Given the description of an element on the screen output the (x, y) to click on. 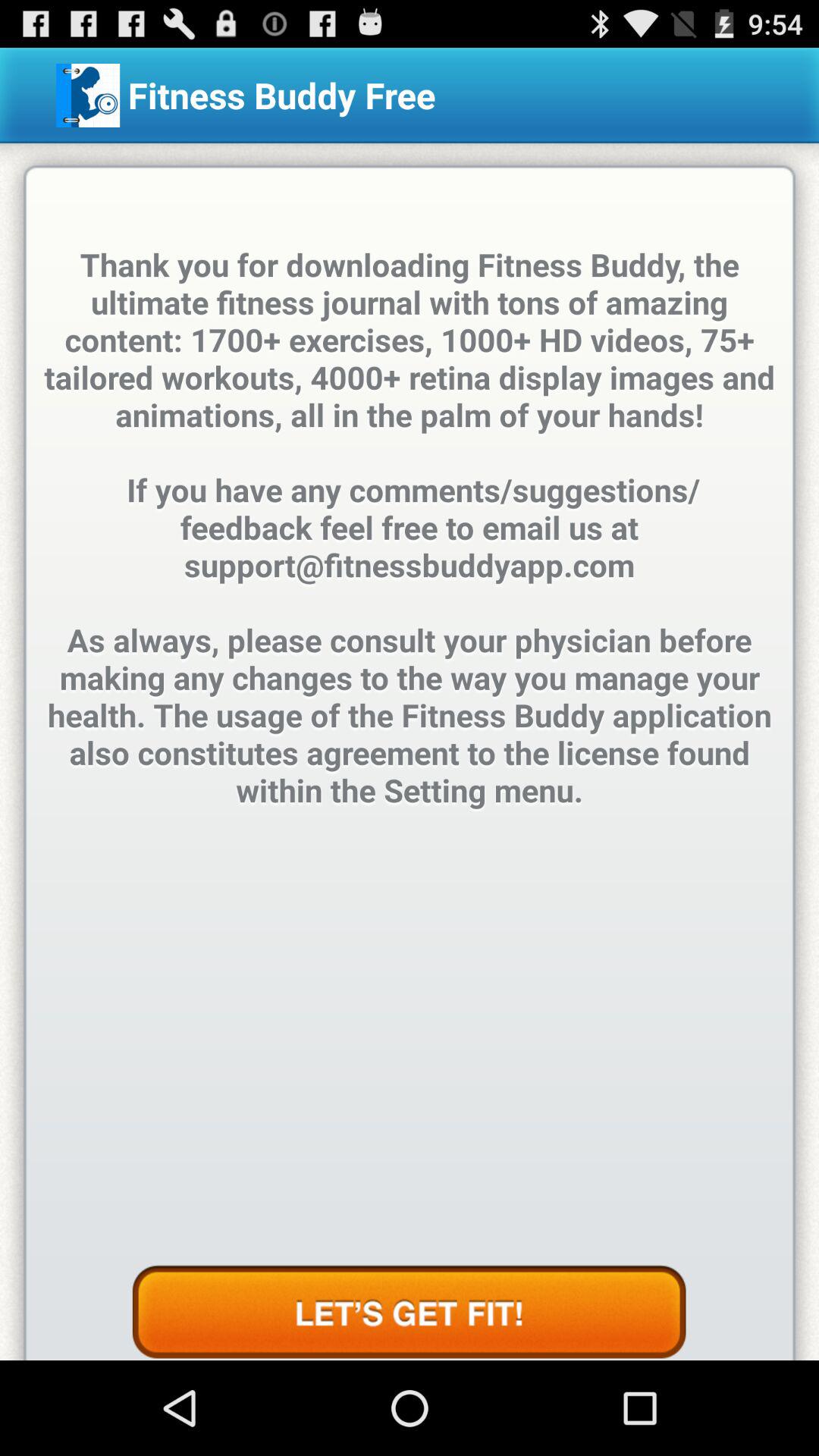
see more information on how to get fit (408, 1312)
